Given the description of an element on the screen output the (x, y) to click on. 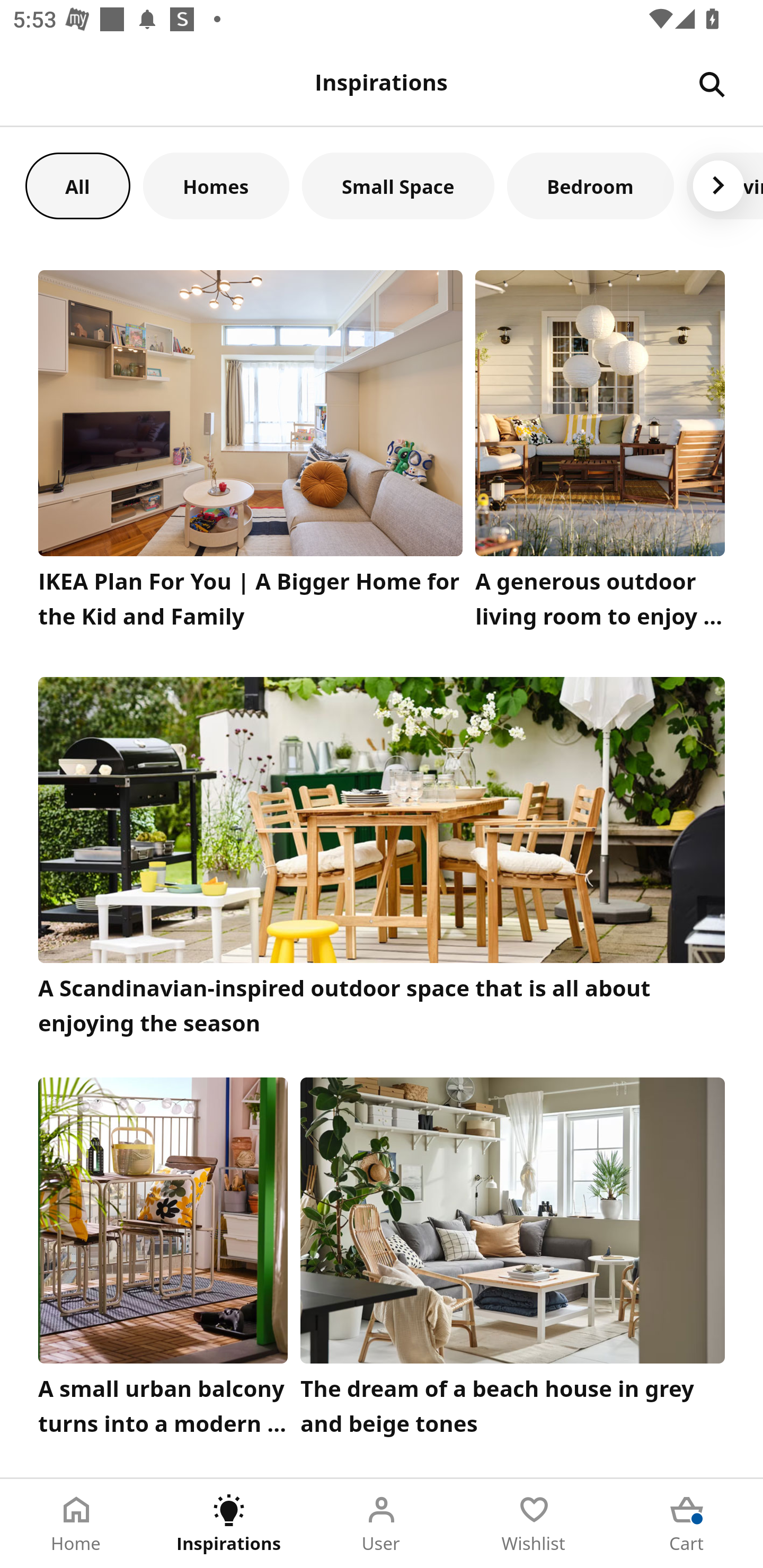
All (77, 185)
Homes (216, 185)
Small Space (398, 185)
Bedroom (590, 185)
The dream of a beach house in grey and beige tones (512, 1261)
Home
Tab 1 of 5 (76, 1522)
Inspirations
Tab 2 of 5 (228, 1522)
User
Tab 3 of 5 (381, 1522)
Wishlist
Tab 4 of 5 (533, 1522)
Cart
Tab 5 of 5 (686, 1522)
